Given the description of an element on the screen output the (x, y) to click on. 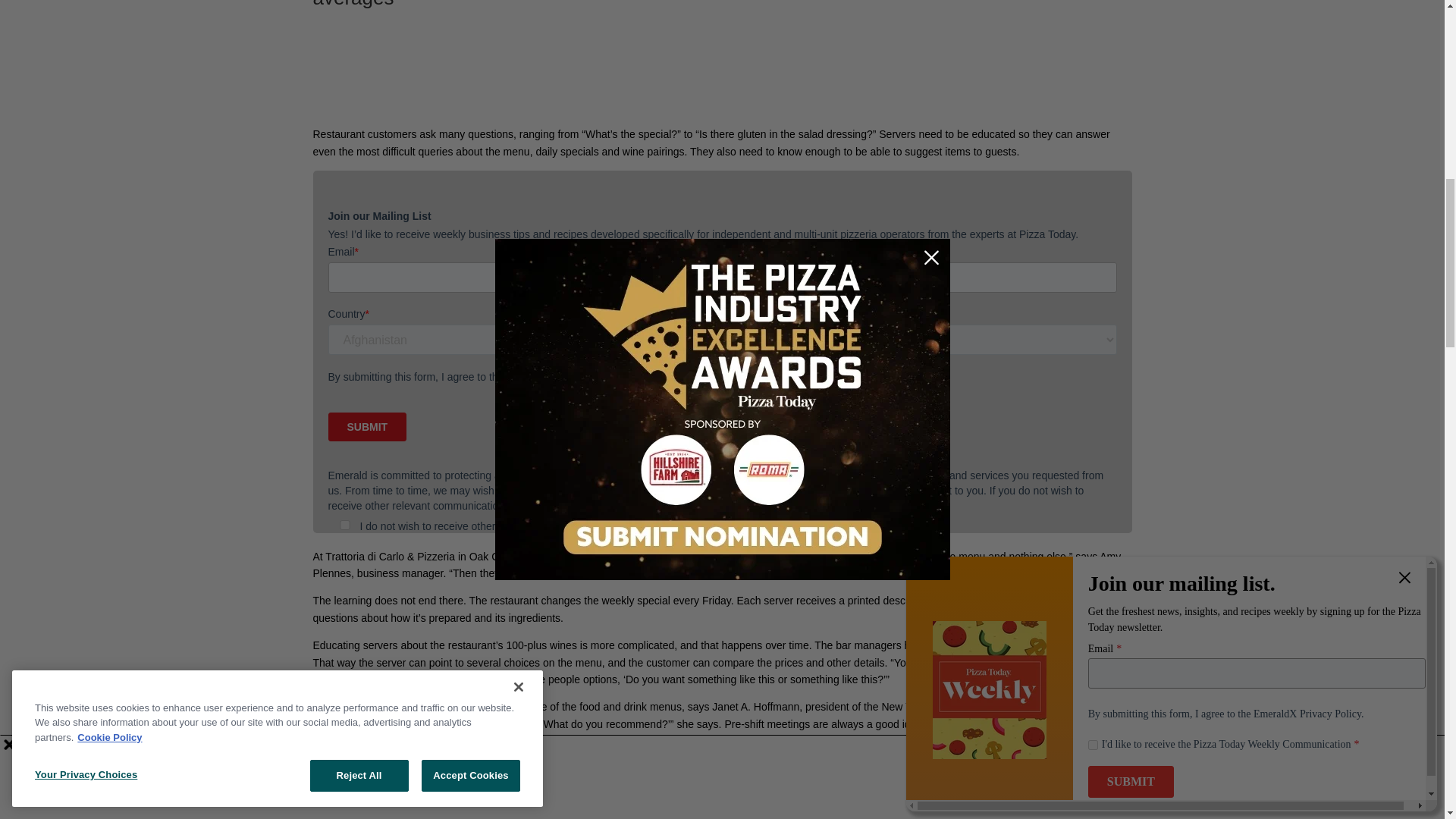
3rd party ad content (721, 76)
I do not wish to receive other relevant communications (343, 524)
SUBMIT (366, 426)
